Given the description of an element on the screen output the (x, y) to click on. 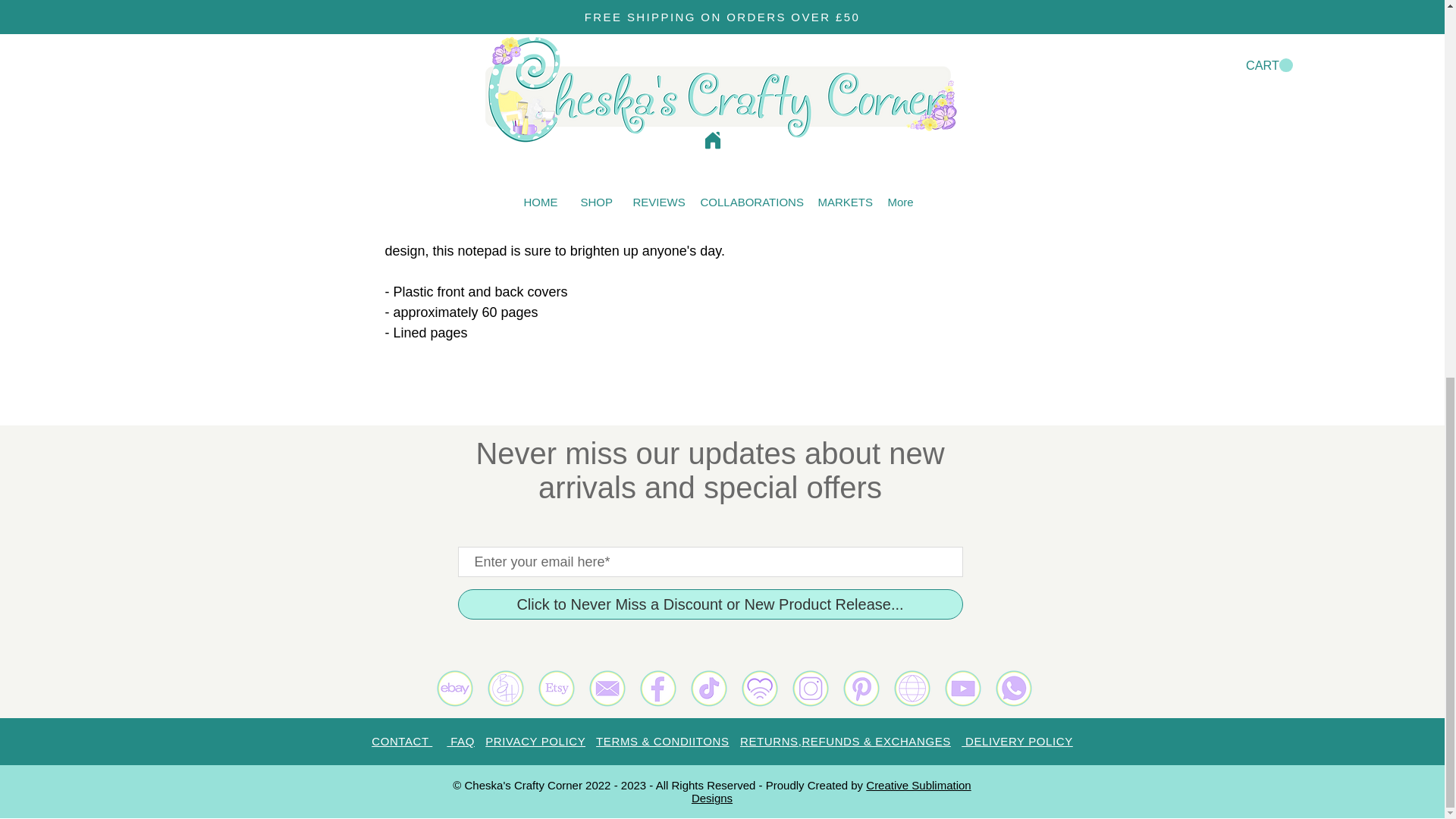
Use right and left arrows to navigate between tabs (1128, 44)
Use right and left arrows to navigate between tabs (1302, 44)
Use right and left arrows to navigate between tabs (1000, 44)
Use right and left arrows to navigate between tabs (874, 44)
